Given the description of an element on the screen output the (x, y) to click on. 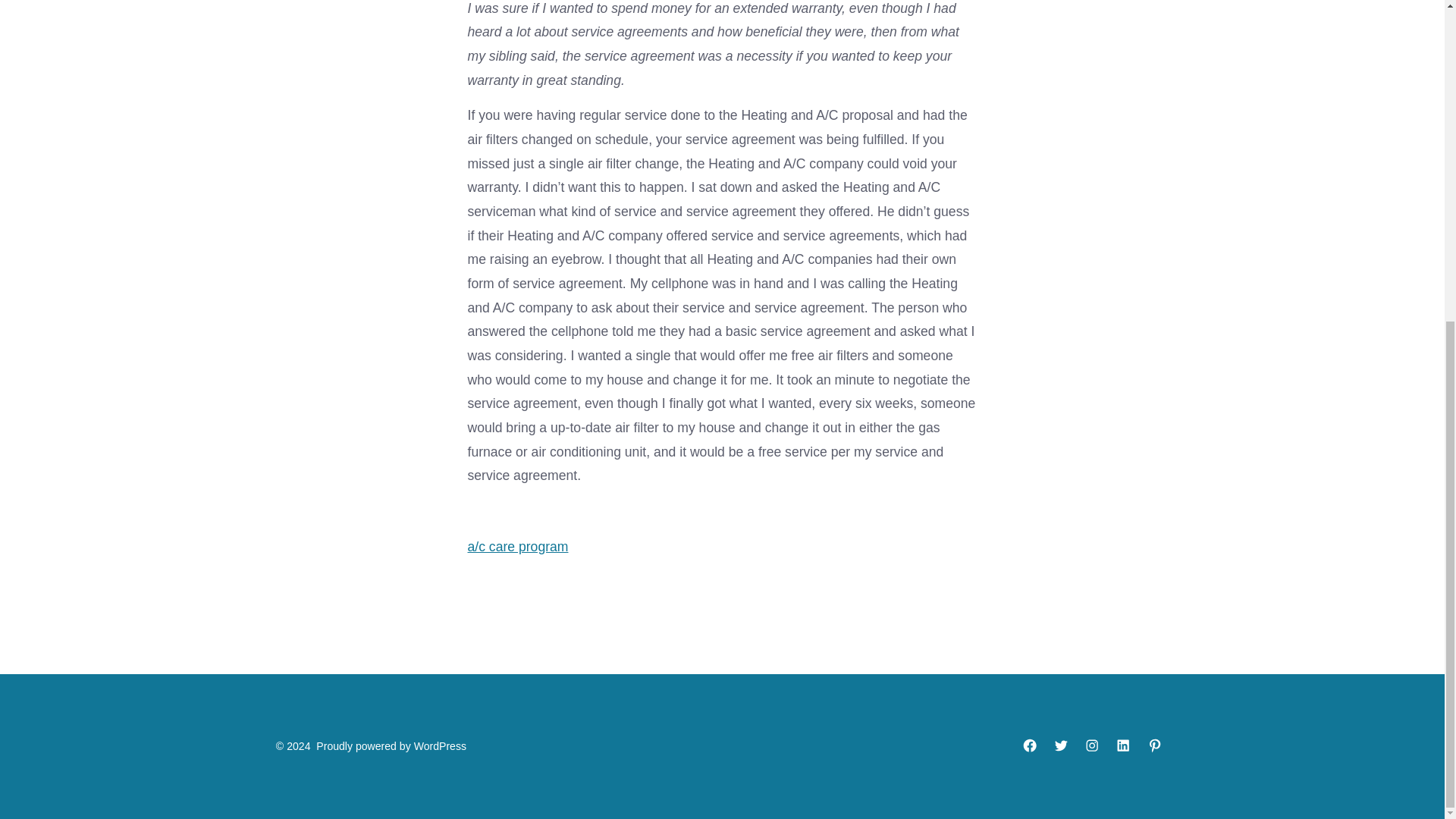
Open LinkedIn in a new tab (1123, 745)
Open Pinterest in a new tab (1155, 745)
Open Facebook in a new tab (1029, 745)
Open Instagram in a new tab (1091, 745)
Open Twitter in a new tab (1060, 745)
